Given the description of an element on the screen output the (x, y) to click on. 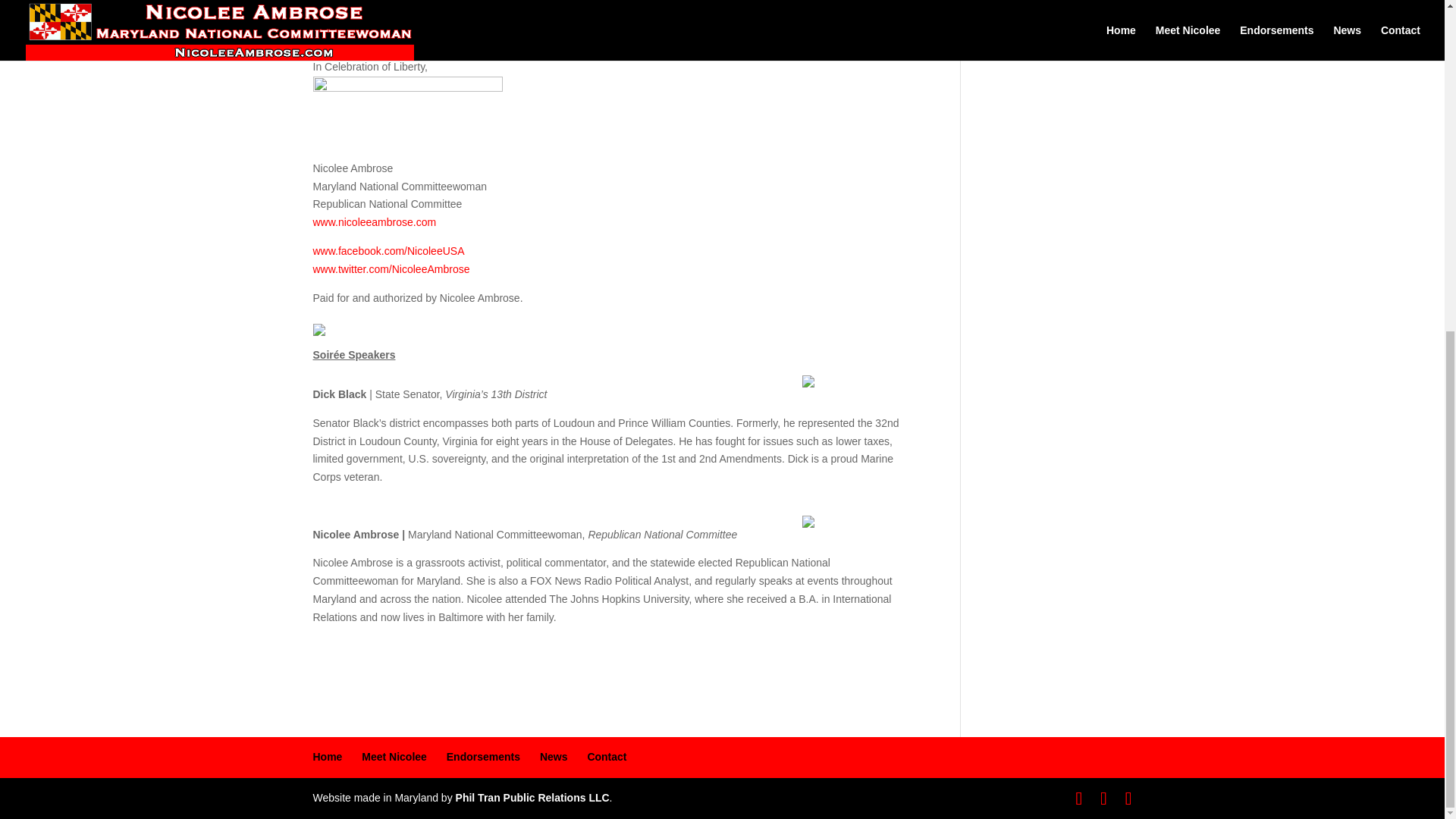
News (553, 756)
Endorsements (482, 756)
Contact (606, 756)
Home (327, 756)
www.nicoleeambrose.com (374, 222)
Meet Nicolee (393, 756)
Phil Tran Public Relations LLC (532, 797)
